Given the description of an element on the screen output the (x, y) to click on. 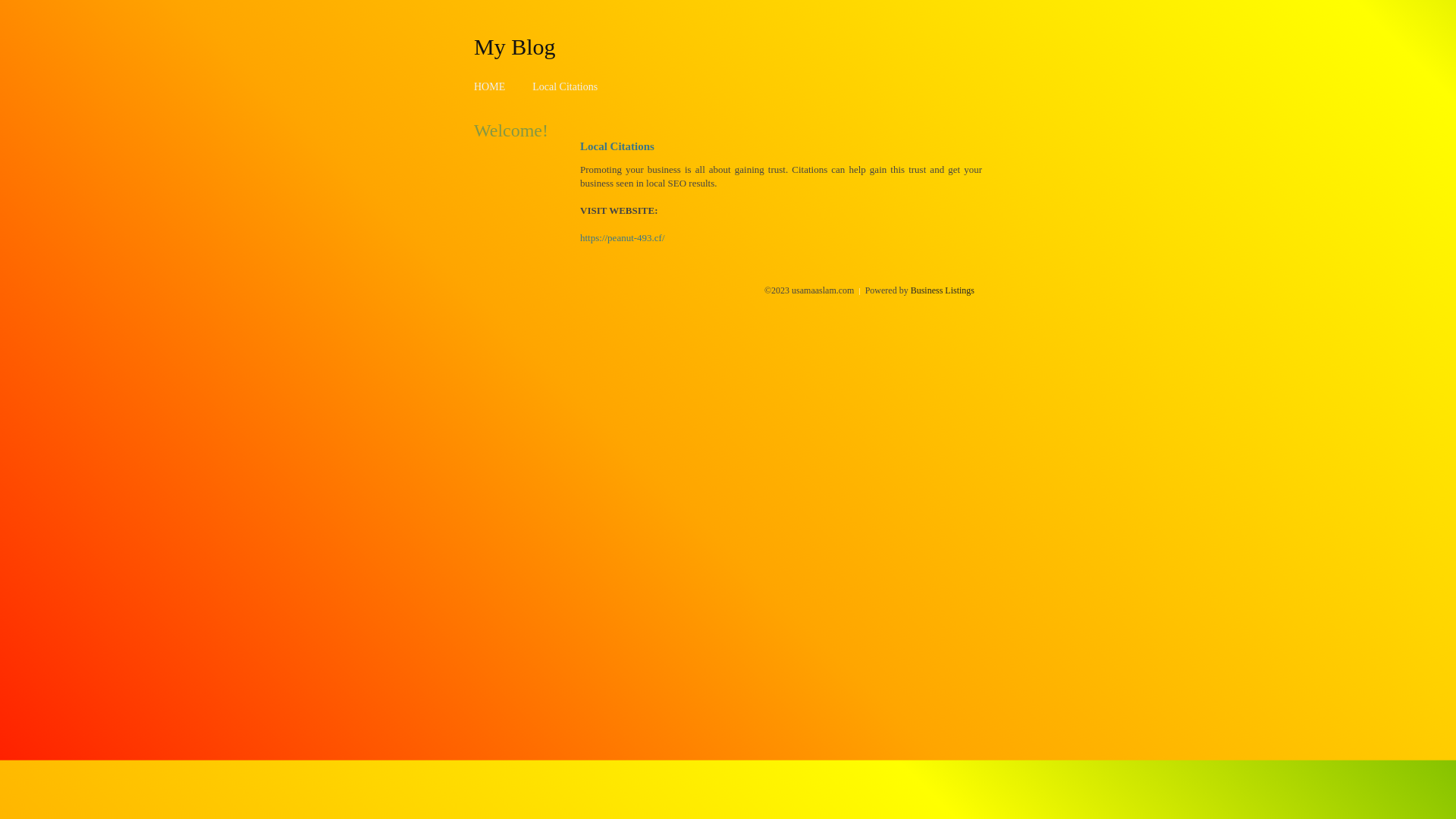
Local Citations Element type: text (564, 86)
Business Listings Element type: text (942, 290)
HOME Element type: text (489, 86)
My Blog Element type: text (514, 46)
https://peanut-493.cf/ Element type: text (622, 237)
